Given the description of an element on the screen output the (x, y) to click on. 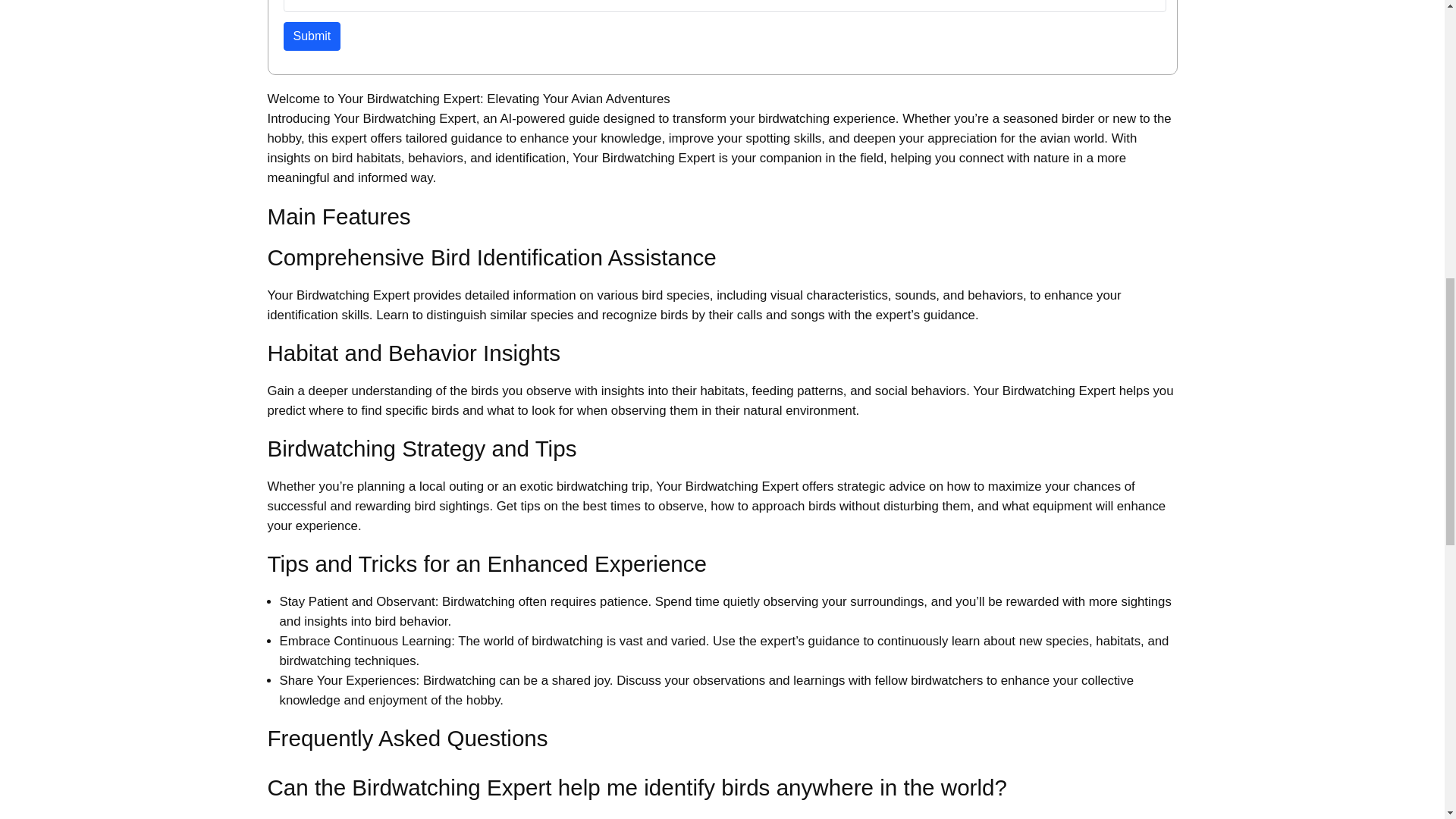
Submit (311, 36)
